Given the description of an element on the screen output the (x, y) to click on. 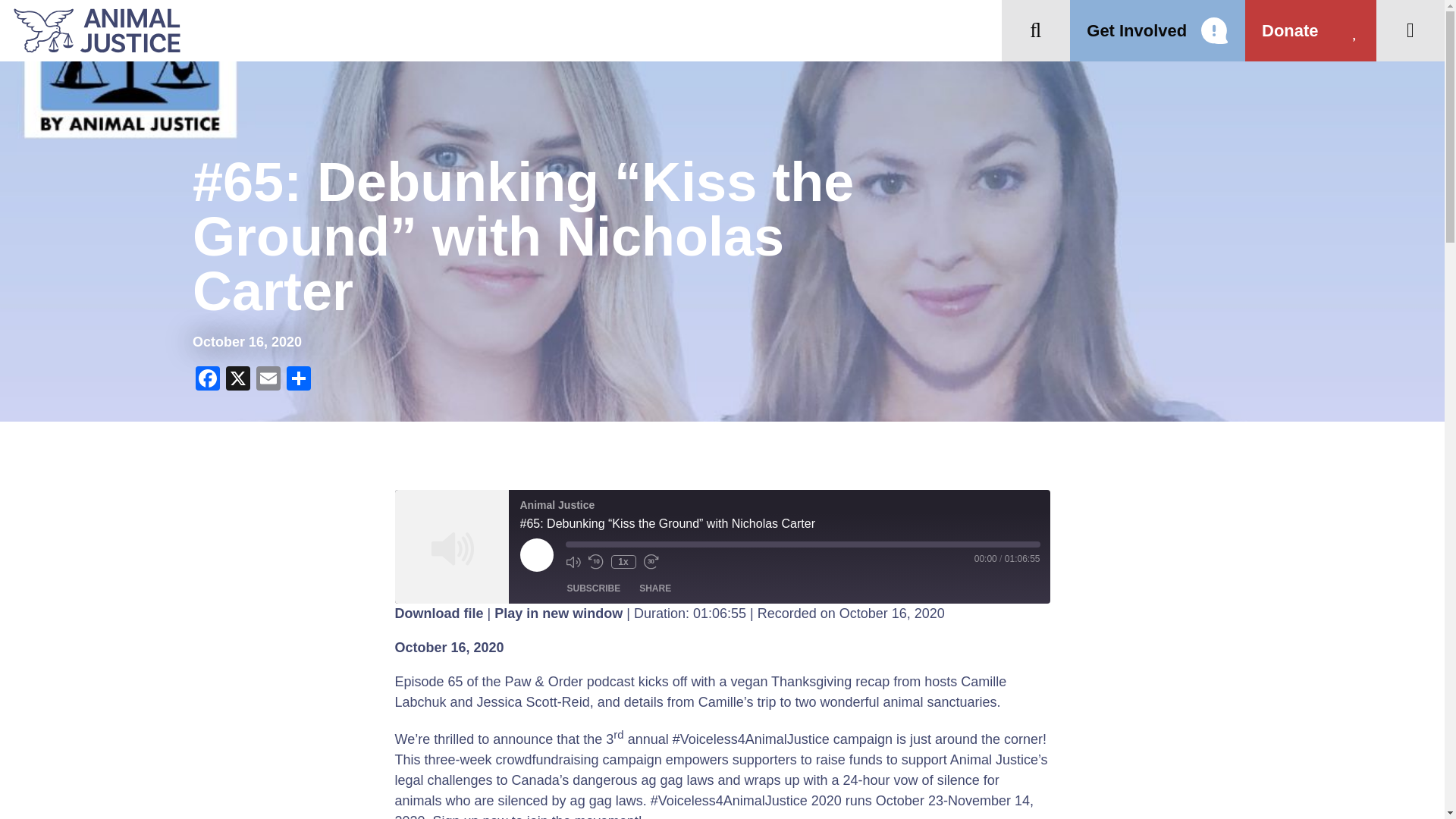
Leading the legal fight for animal protection (90, 30)
Share (298, 379)
Play (536, 554)
Fast Forward 30 seconds (650, 561)
Donate (1309, 30)
SHARE (654, 588)
Donate (1309, 30)
X (237, 379)
Facebook (207, 379)
Rewind 10 seconds (596, 561)
Facebook (207, 379)
Play Episode (536, 554)
Get Involved (1157, 30)
Email (268, 379)
Get Involved (1157, 30)
